Given the description of an element on the screen output the (x, y) to click on. 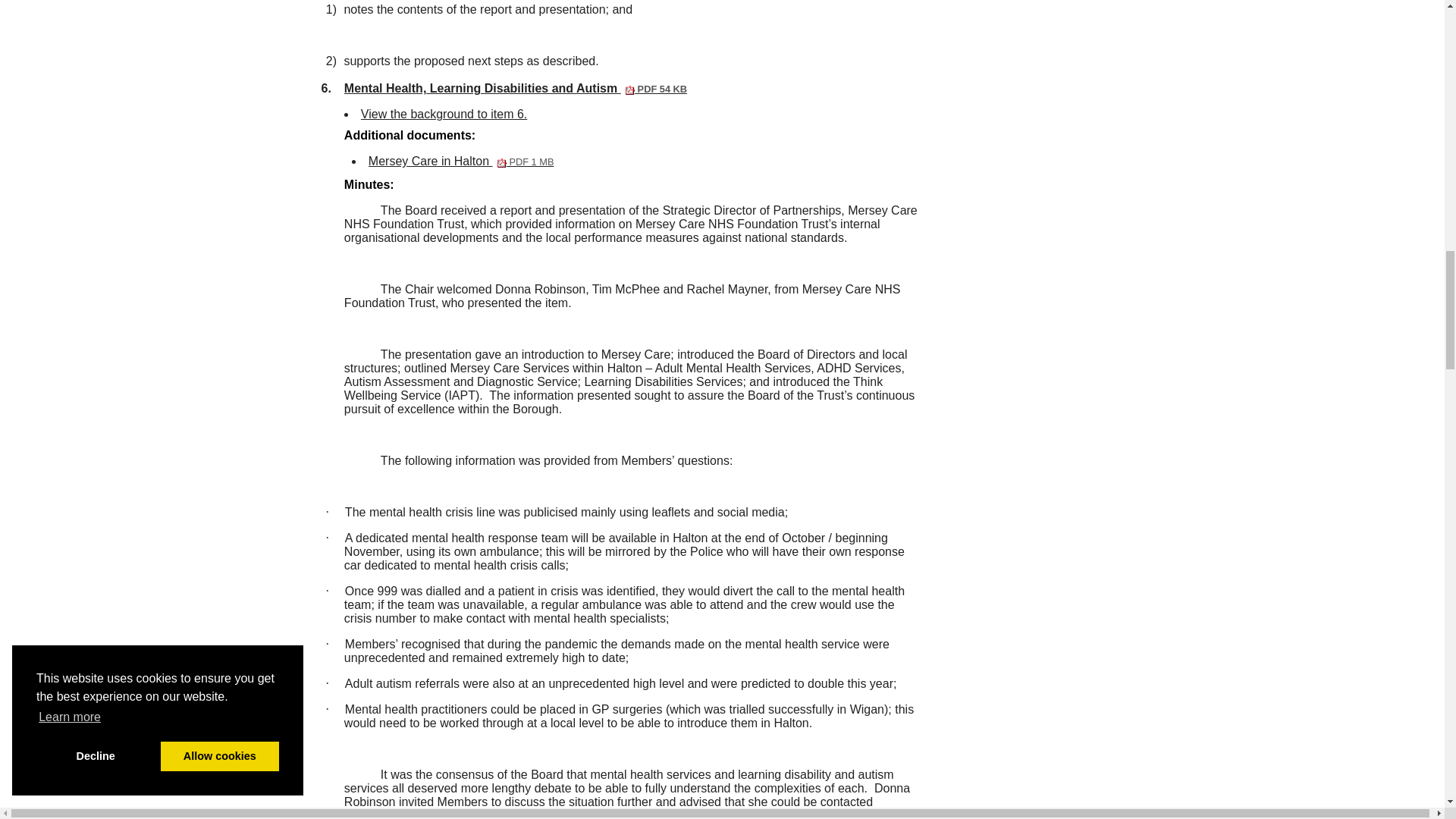
Link to issue details for  item 6. (444, 113)
Mental Health, Learning Disabilities and Autism PDF 54 KB (461, 160)
Link to document 'Mersey Care in Halton' pdf file (515, 88)
View the background to item 6. (461, 160)
